Given the description of an element on the screen output the (x, y) to click on. 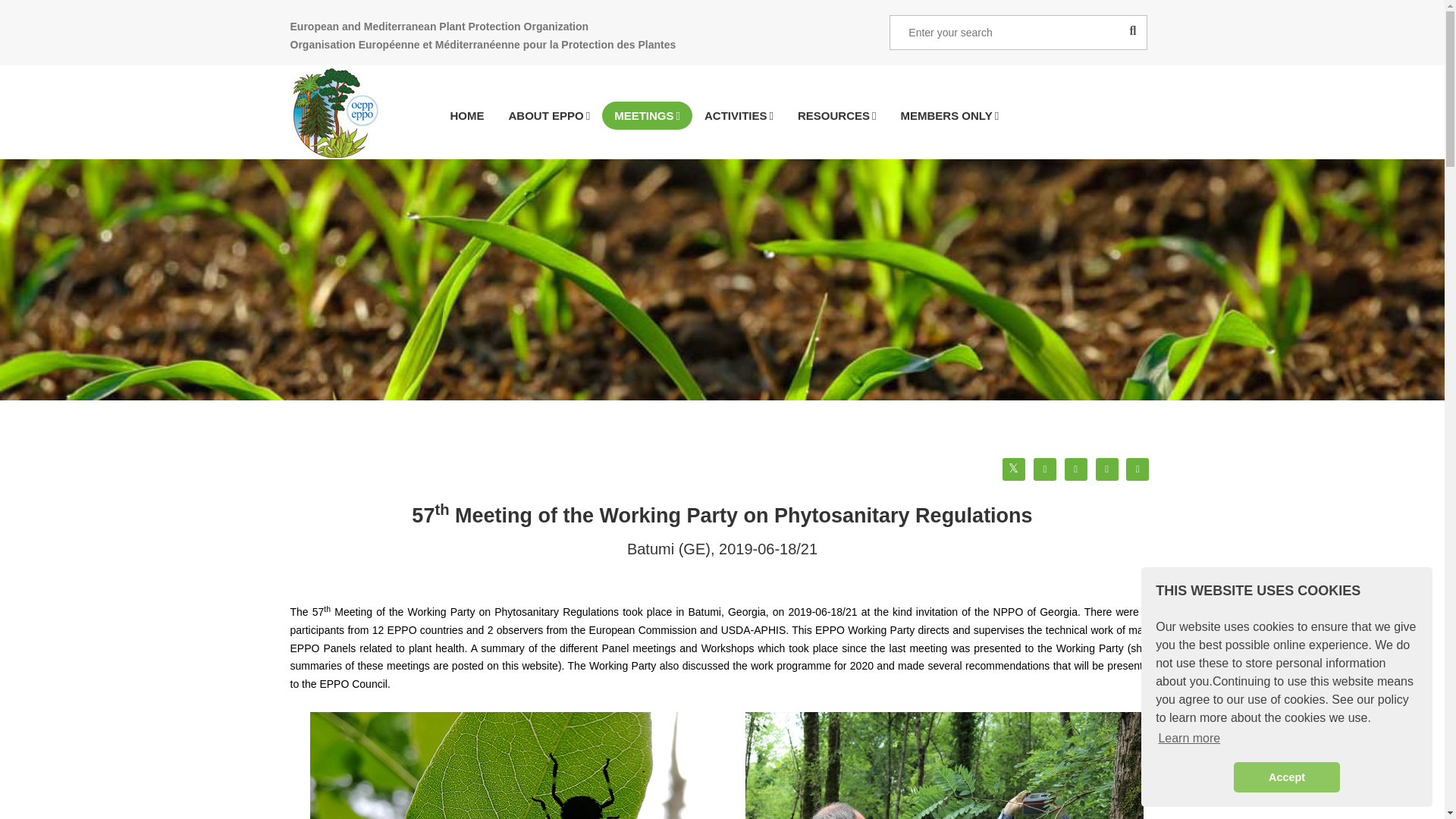
Learn more (1189, 738)
share on twitter (1014, 468)
share on linkedin (1075, 468)
print this page (1136, 468)
  Enter your search (1018, 32)
MEETINGS (647, 115)
ABOUT EPPO (549, 115)
HOME (724, 115)
share on facebook (467, 115)
Accept (1045, 468)
share this page by email (1286, 777)
